Given the description of an element on the screen output the (x, y) to click on. 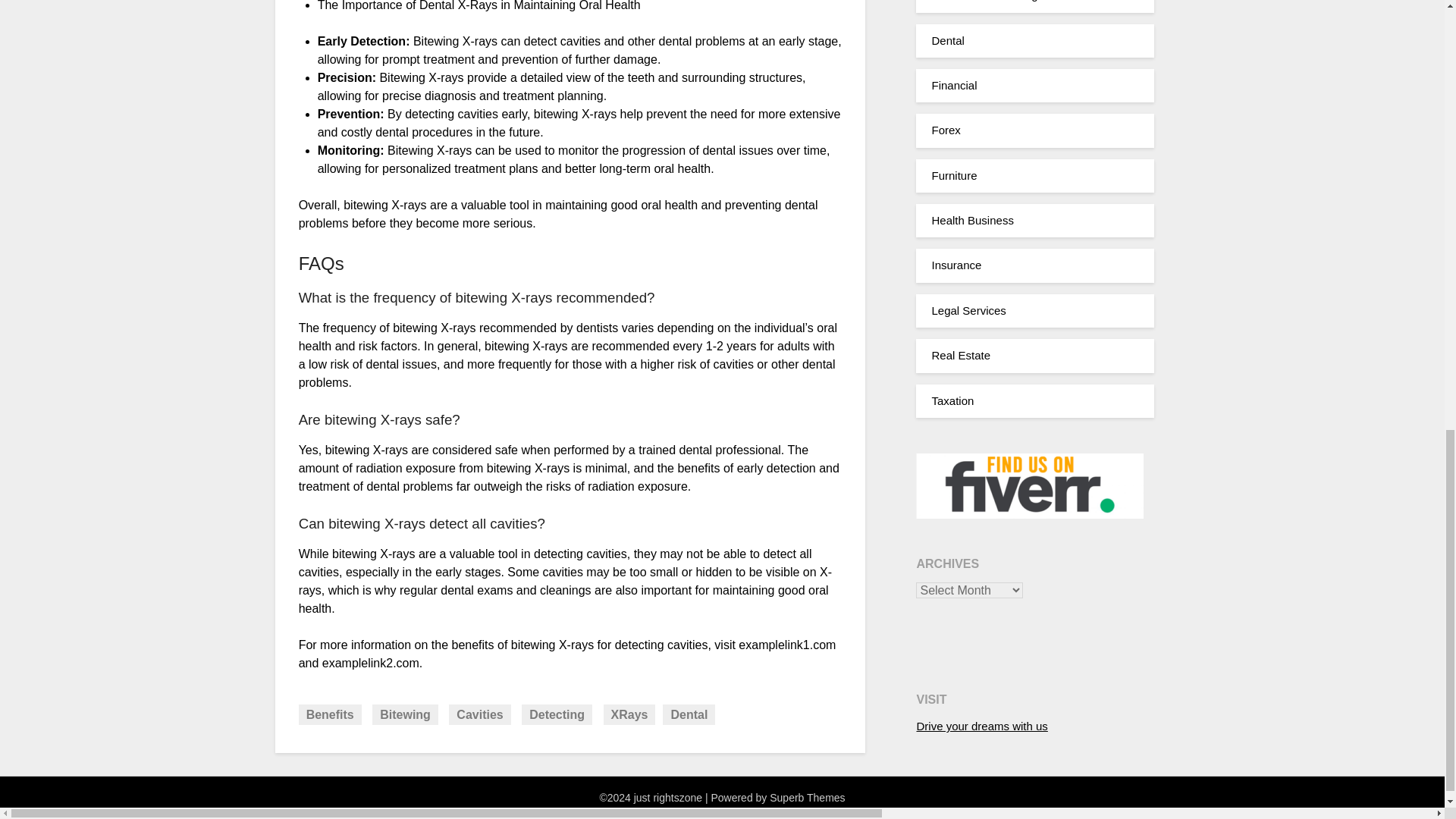
Bitewing (405, 714)
Benefits (329, 714)
Dental (688, 714)
examplelink2.com (370, 662)
examplelink1.com (786, 644)
XRays (630, 714)
The Importance of Dental X-Rays in Maintaining Oral Health (478, 5)
Cavities (479, 714)
Detecting (556, 714)
